Given the description of an element on the screen output the (x, y) to click on. 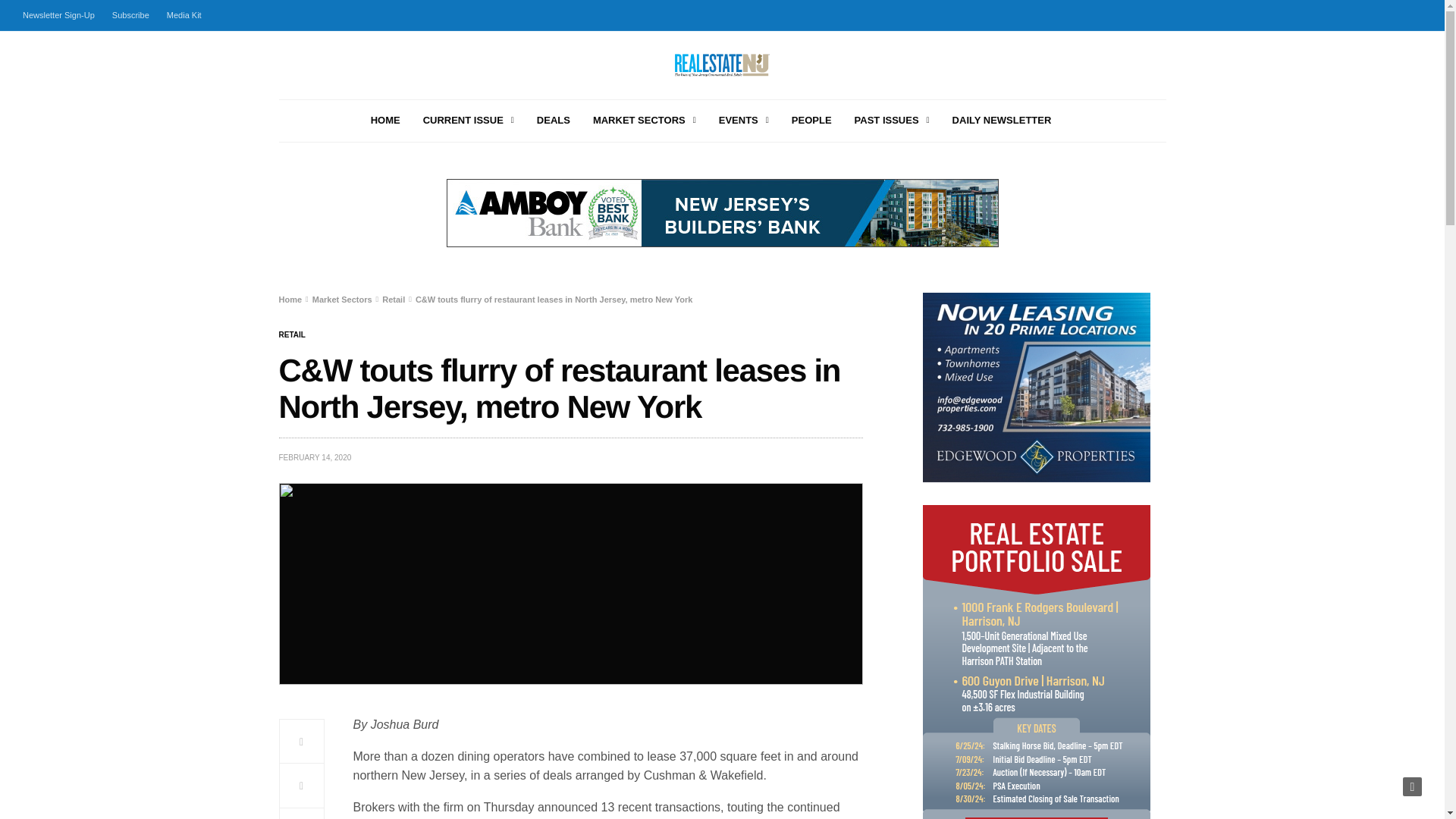
Home (290, 298)
Subscribe (130, 15)
DAILY NEWSLETTER (1001, 120)
PEOPLE (811, 120)
Media Kit (183, 15)
CURRENT ISSUE (468, 120)
PAST ISSUES (892, 120)
Newsletter Sign-Up (62, 15)
Retail (292, 335)
DEALS (553, 120)
